Given the description of an element on the screen output the (x, y) to click on. 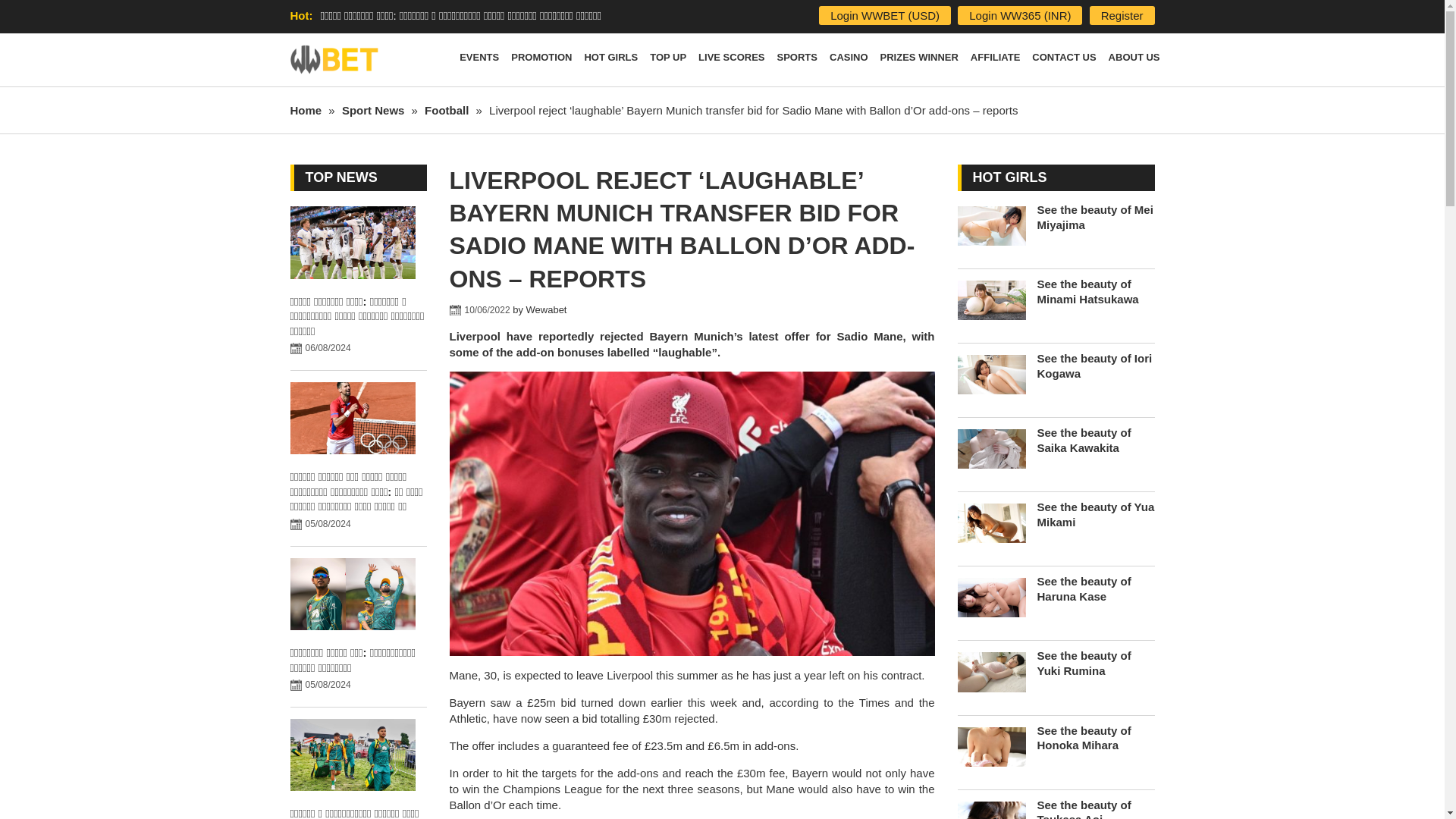
Register (1121, 15)
HOT GIRLS (610, 59)
PROMOTION (541, 59)
LIVE SCORES (731, 59)
